Given the description of an element on the screen output the (x, y) to click on. 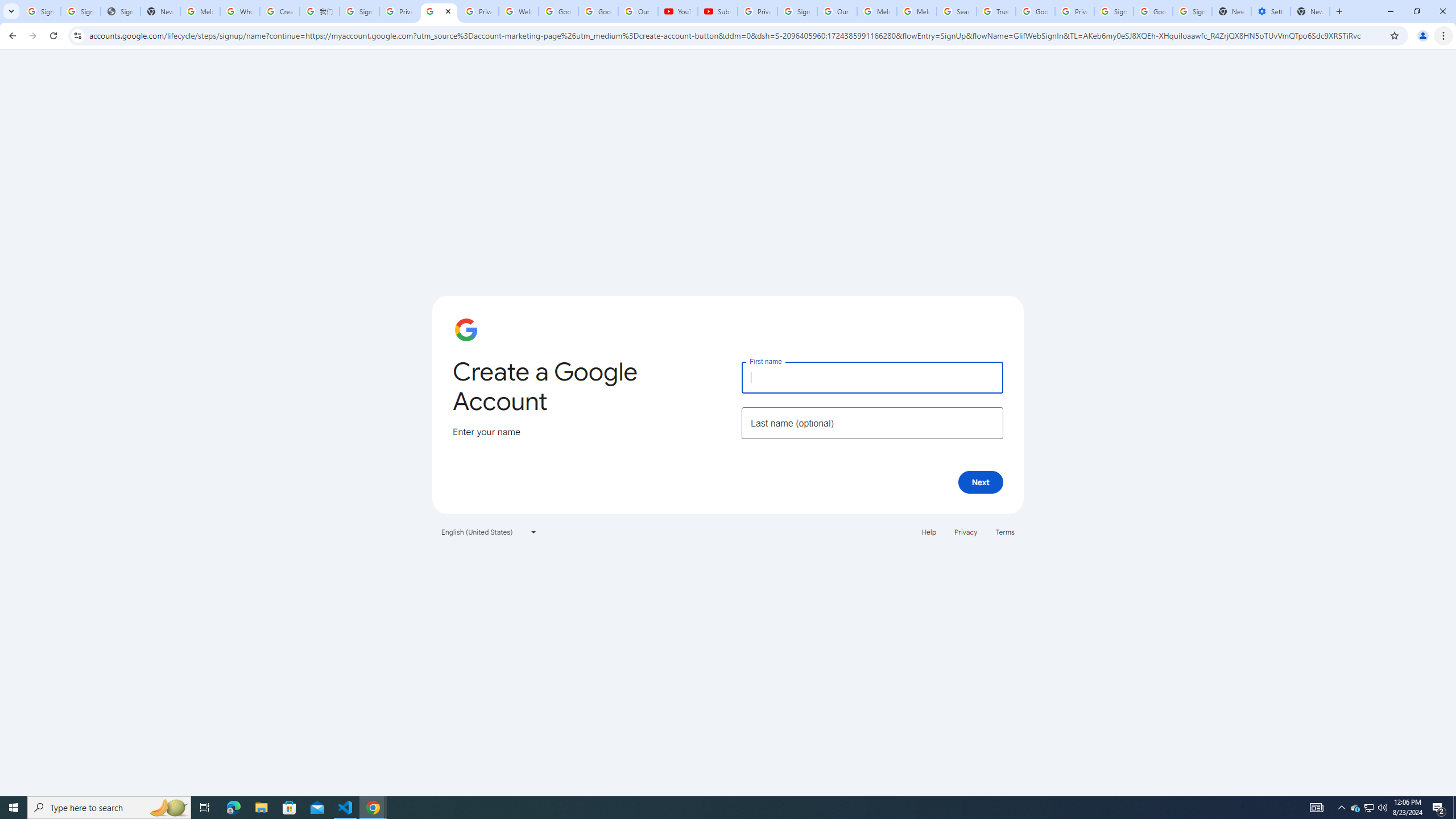
First name (871, 376)
YouTube (677, 11)
Sign In - USA TODAY (120, 11)
Subscriptions - YouTube (717, 11)
